Given the description of an element on the screen output the (x, y) to click on. 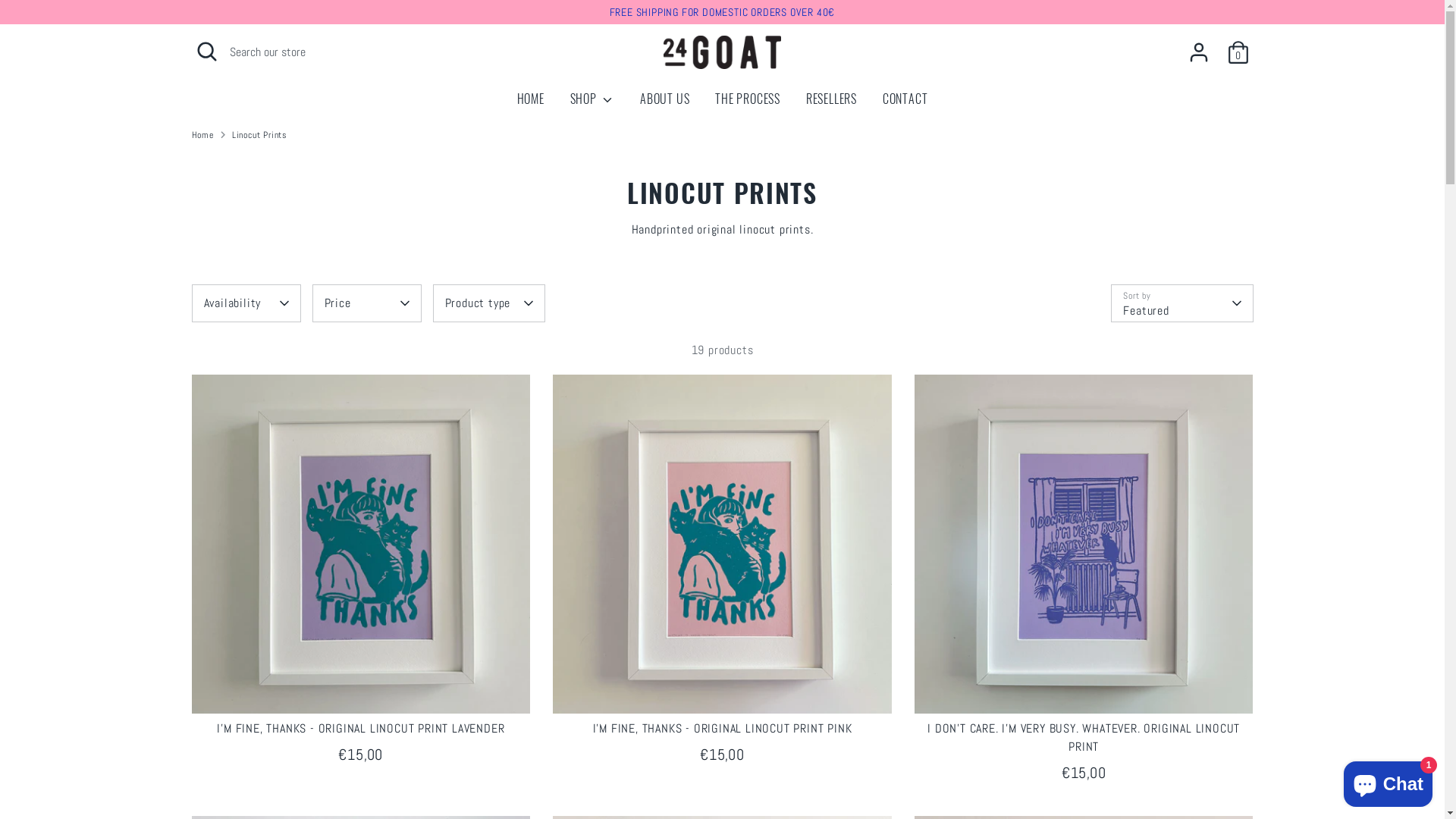
RESELLERS Element type: text (831, 102)
Linocut Prints Element type: text (259, 134)
THE PROCESS Element type: text (747, 102)
CONTACT Element type: text (905, 102)
0 Element type: text (1237, 52)
ABOUT US Element type: text (664, 102)
Home Element type: text (202, 134)
SHOP Element type: text (592, 102)
I'M FINE, THANKS - ORIGINAL LINOCUT PRINT LAVENDER Element type: text (360, 728)
Shopify online store chat Element type: hover (1388, 780)
I'M FINE, THANKS - ORIGINAL LINOCUT PRINT PINK Element type: text (722, 728)
HOME Element type: text (530, 102)
